Given the description of an element on the screen output the (x, y) to click on. 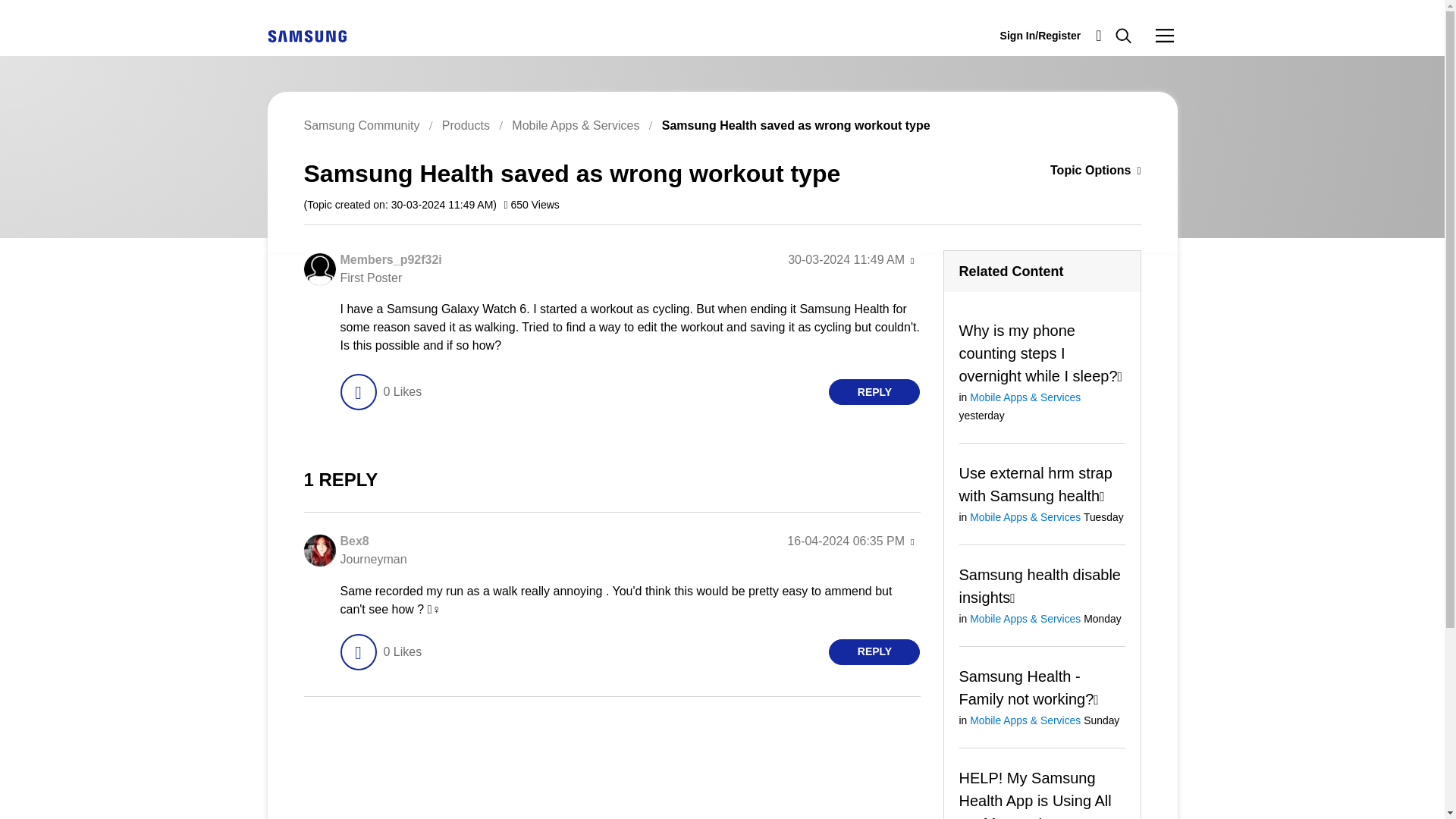
Topic Options (1072, 171)
Show option menu (912, 261)
Bex8 (353, 540)
English (306, 36)
REPLY (874, 391)
Community (1164, 35)
English (306, 34)
The total number of likes this post has received. (401, 391)
Products (465, 124)
Samsung Community (360, 124)
Click here to give likes to this post. (357, 391)
Show option menu (1072, 171)
